Given the description of an element on the screen output the (x, y) to click on. 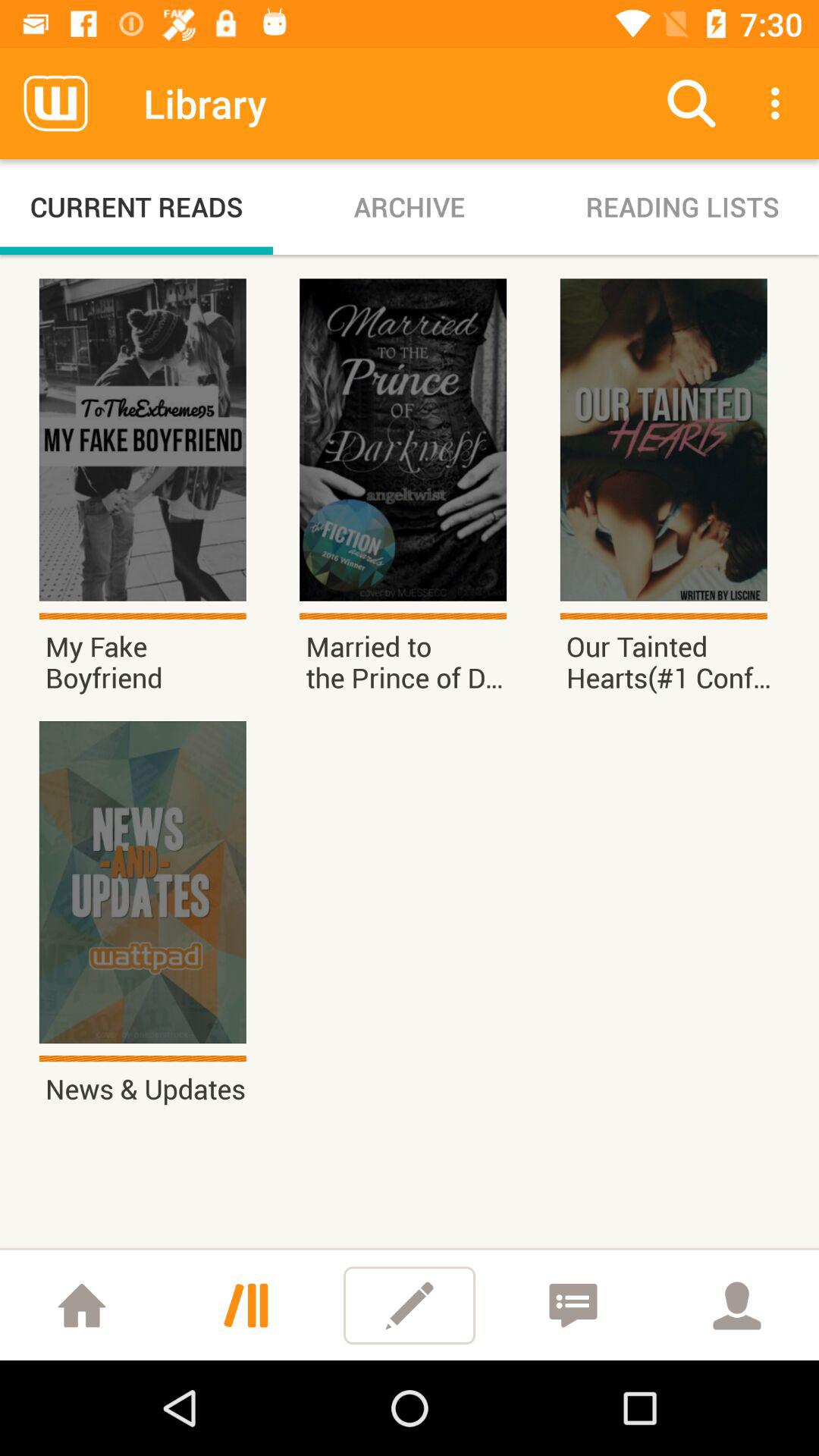
scroll to the current reads item (136, 206)
